Given the description of an element on the screen output the (x, y) to click on. 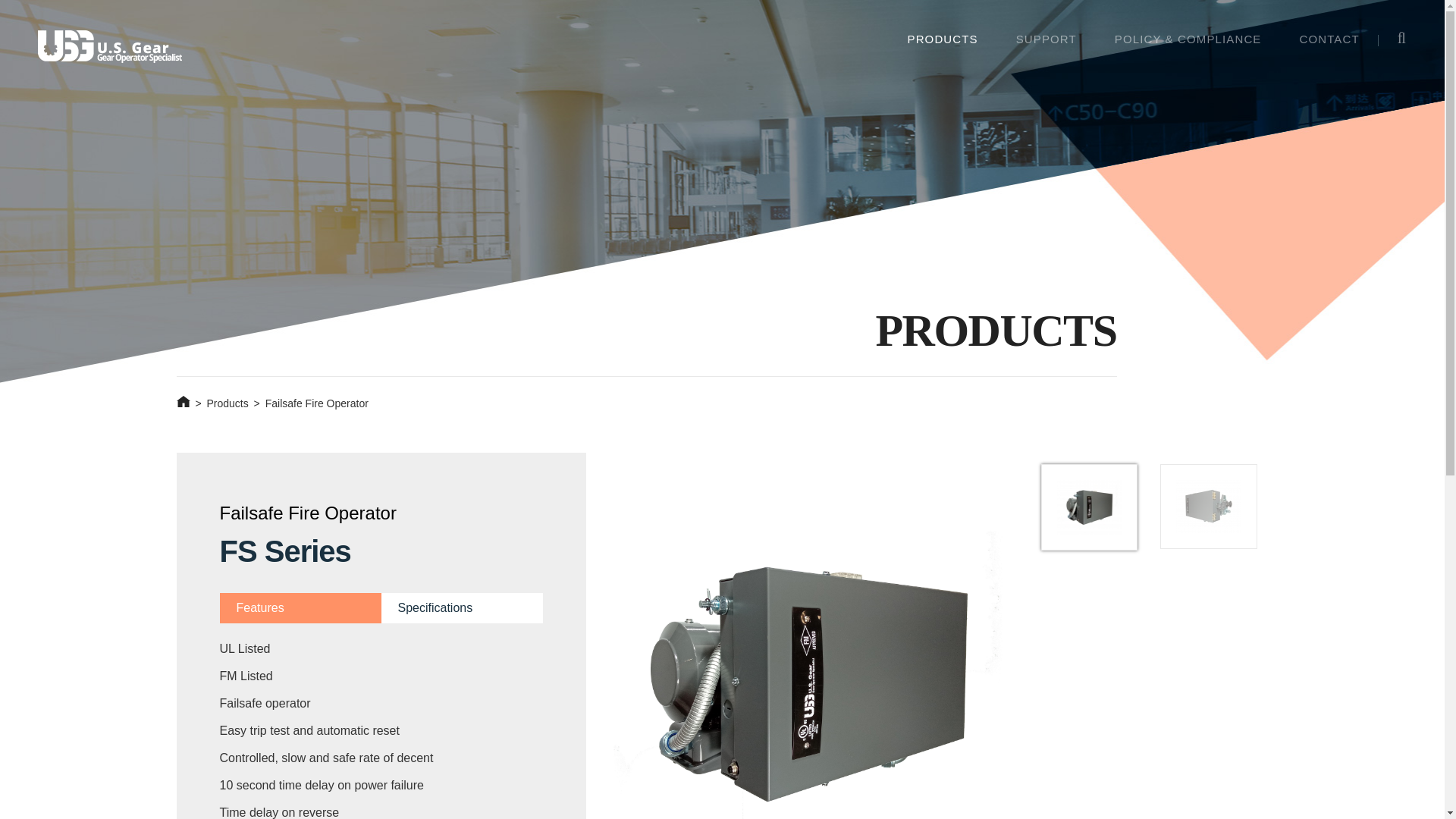
SUPPORT (1046, 38)
Features (300, 607)
Specifications (460, 607)
Products (226, 403)
CONTACT (1328, 38)
PRODUCTS (942, 38)
